Given the description of an element on the screen output the (x, y) to click on. 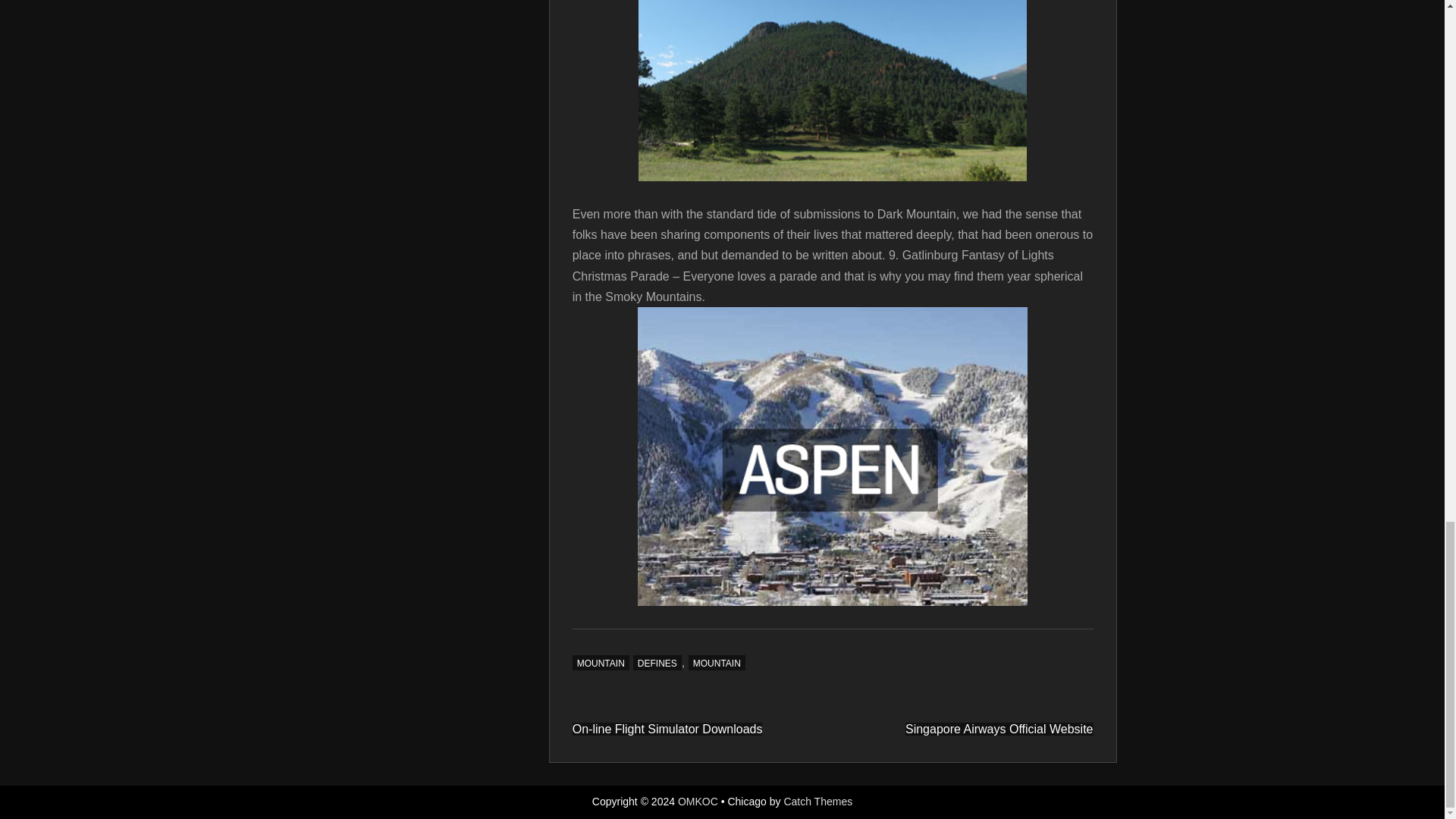
DEFINES (657, 662)
MOUNTAIN (716, 662)
On-line Flight Simulator Downloads (667, 728)
MOUNTAIN (600, 662)
Singapore Airways Official Website (999, 728)
